Given the description of an element on the screen output the (x, y) to click on. 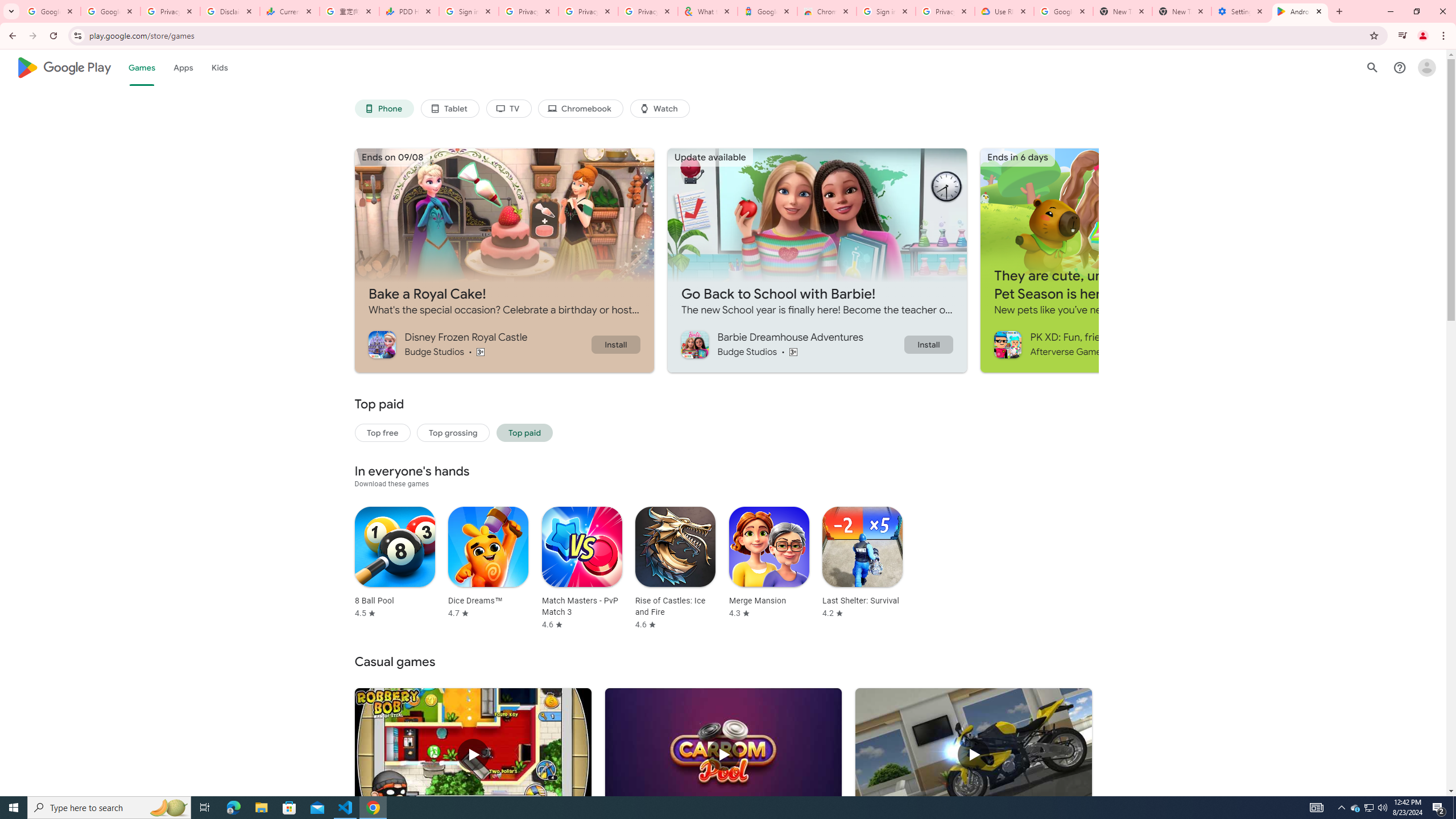
Google Workspace Admin Community (50, 11)
Privacy Checkup (588, 11)
Sign in - Google Accounts (468, 11)
